Given the description of an element on the screen output the (x, y) to click on. 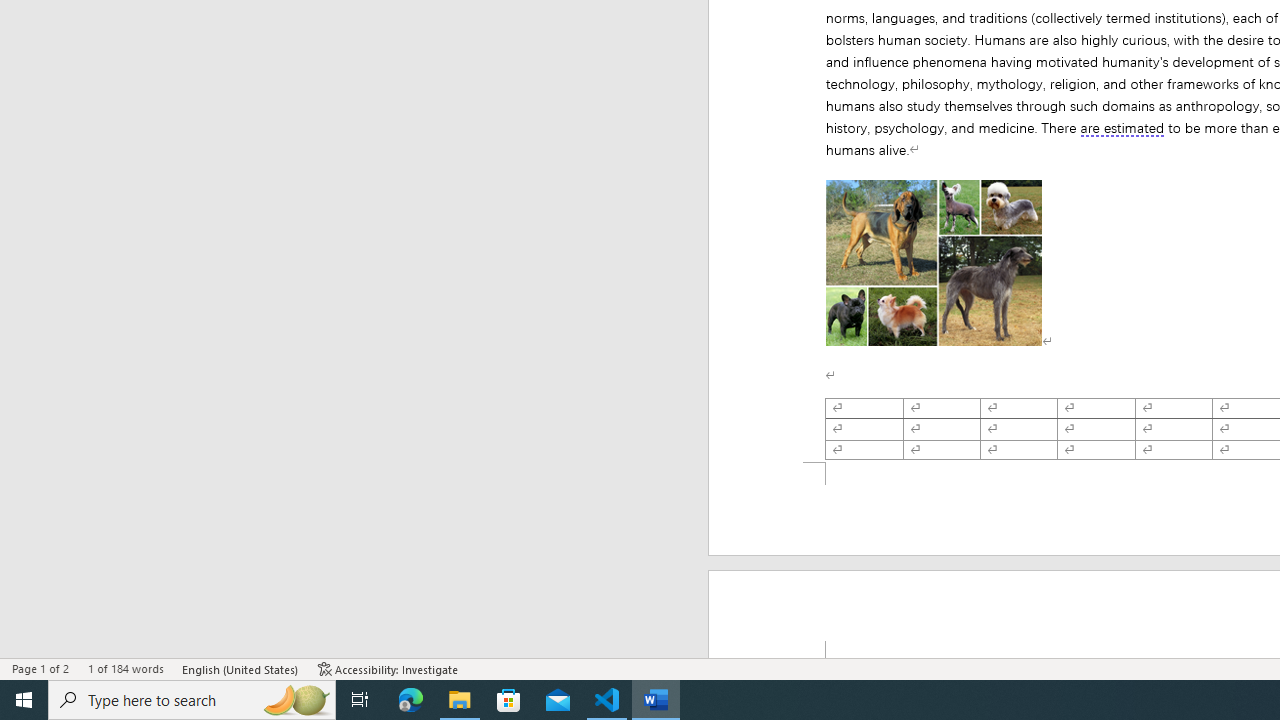
Page Number Page 1 of 2 (39, 668)
